Given the description of an element on the screen output the (x, y) to click on. 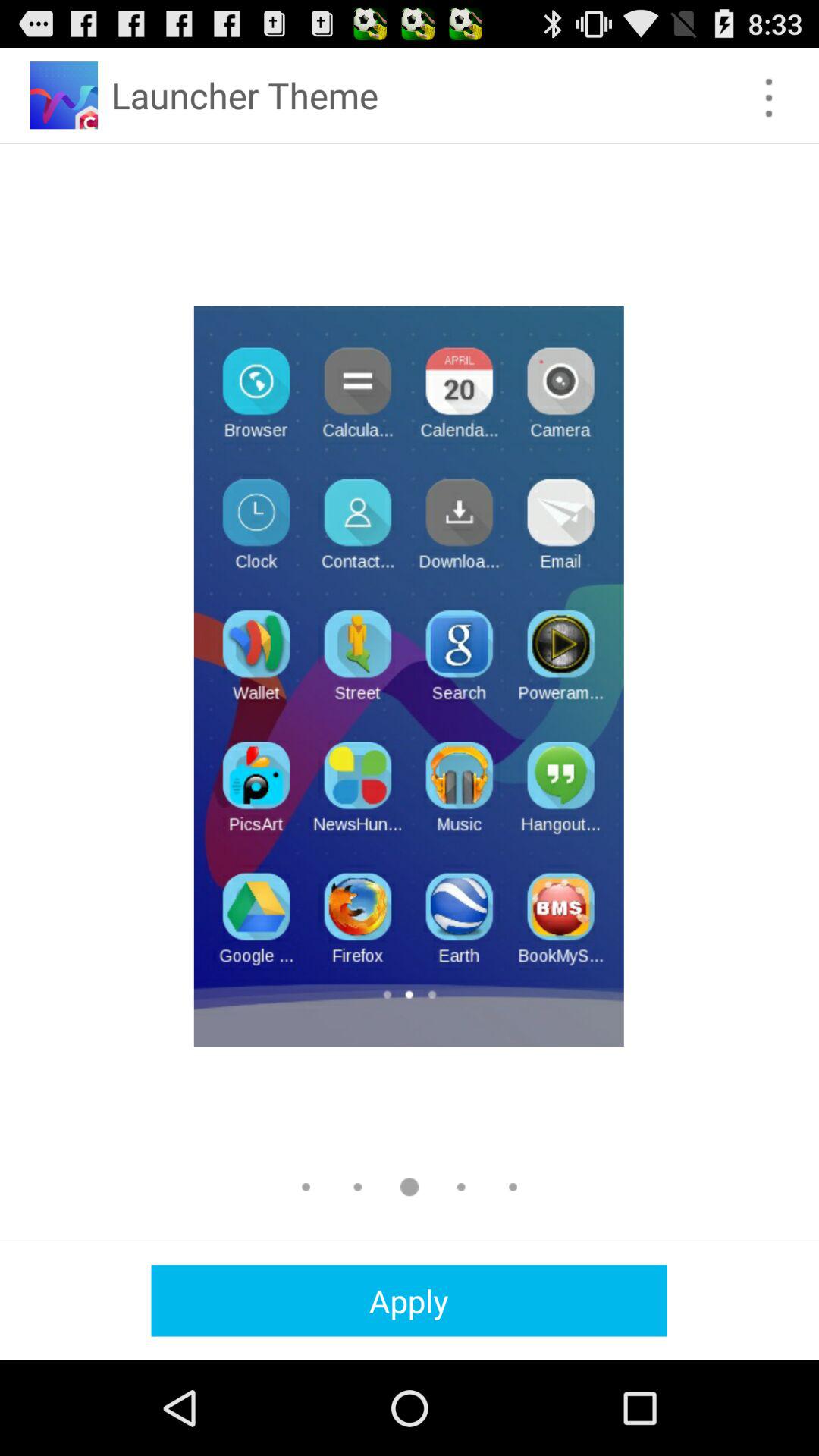
click icon at the top right corner (768, 97)
